Given the description of an element on the screen output the (x, y) to click on. 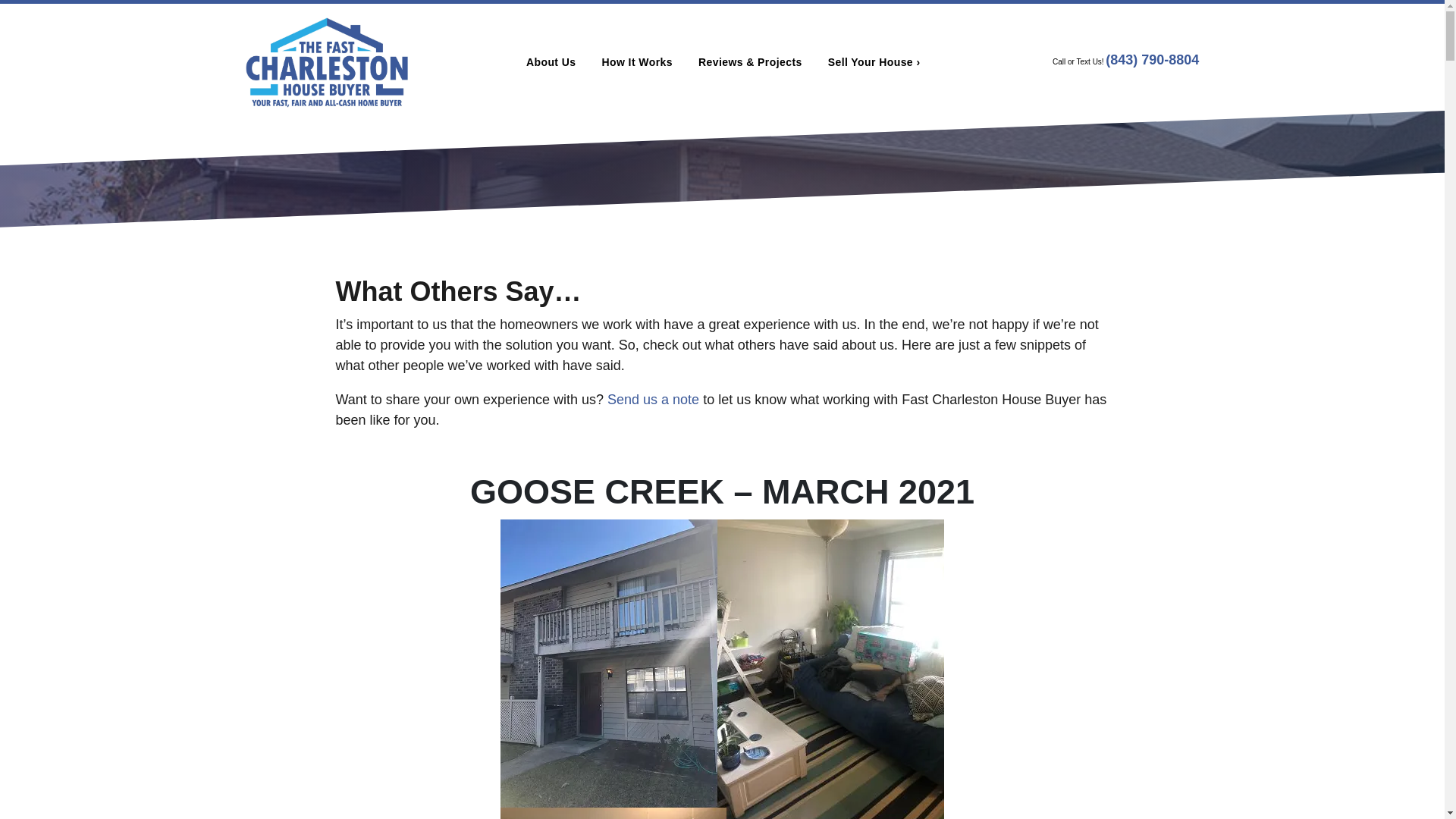
Send us a note (652, 399)
Call or Text Us! (1078, 62)
How It Works (636, 61)
About Us (550, 61)
